Given the description of an element on the screen output the (x, y) to click on. 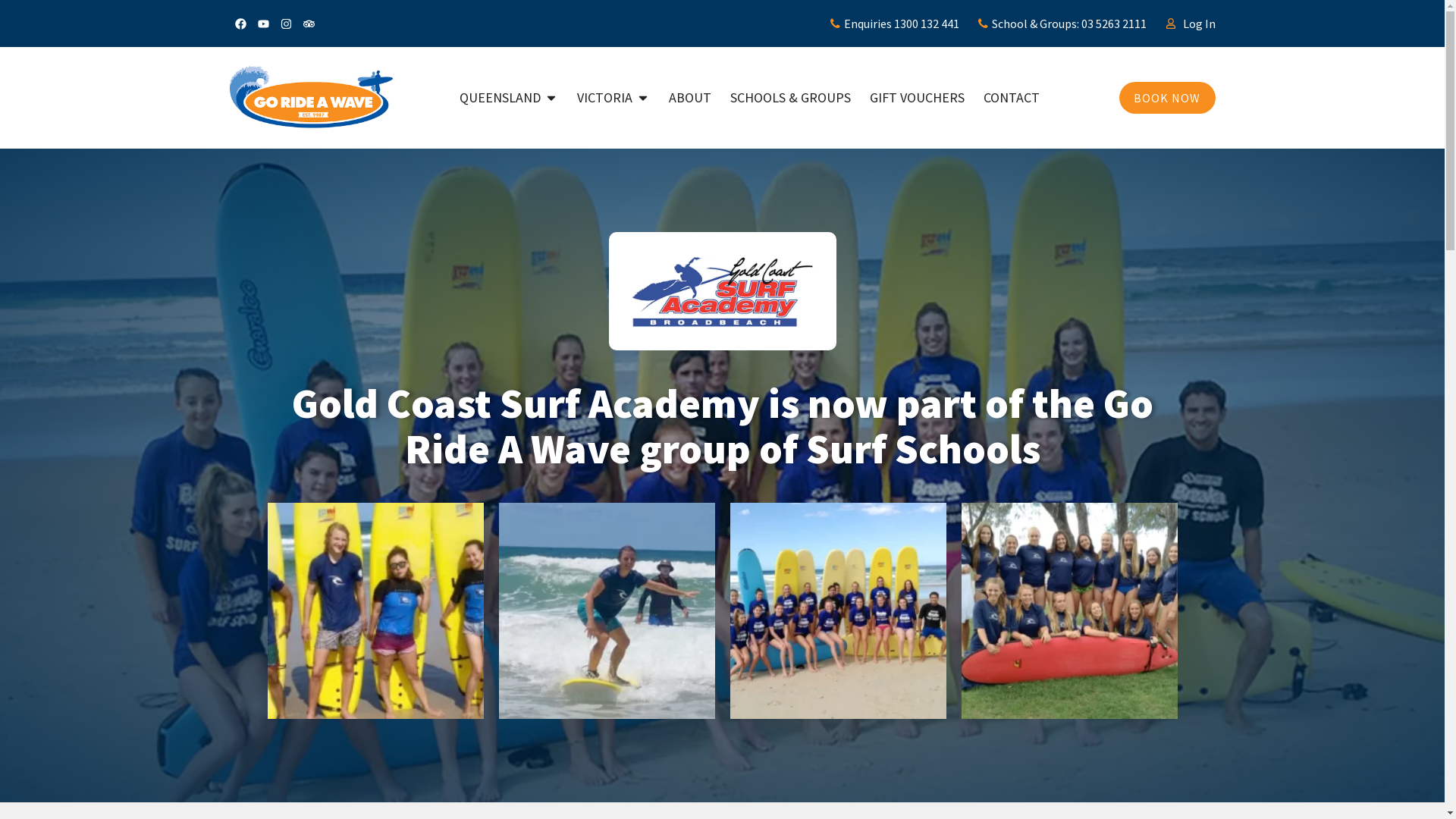
BOOK NOW Element type: text (1166, 97)
Gold Coast Surf Academy - Go Ride A Wave - 2 Element type: hover (721, 290)
SCHOOLS & GROUPS Element type: text (790, 98)
ABOUT Element type: text (689, 98)
Log In Element type: text (1190, 23)
School & Groups: 03 5263 2111 Element type: text (1062, 23)
Enquiries 1300 132 441 Element type: text (894, 23)
GIFT VOUCHERS Element type: text (916, 98)
CONTACT Element type: text (1011, 98)
